Given the description of an element on the screen output the (x, y) to click on. 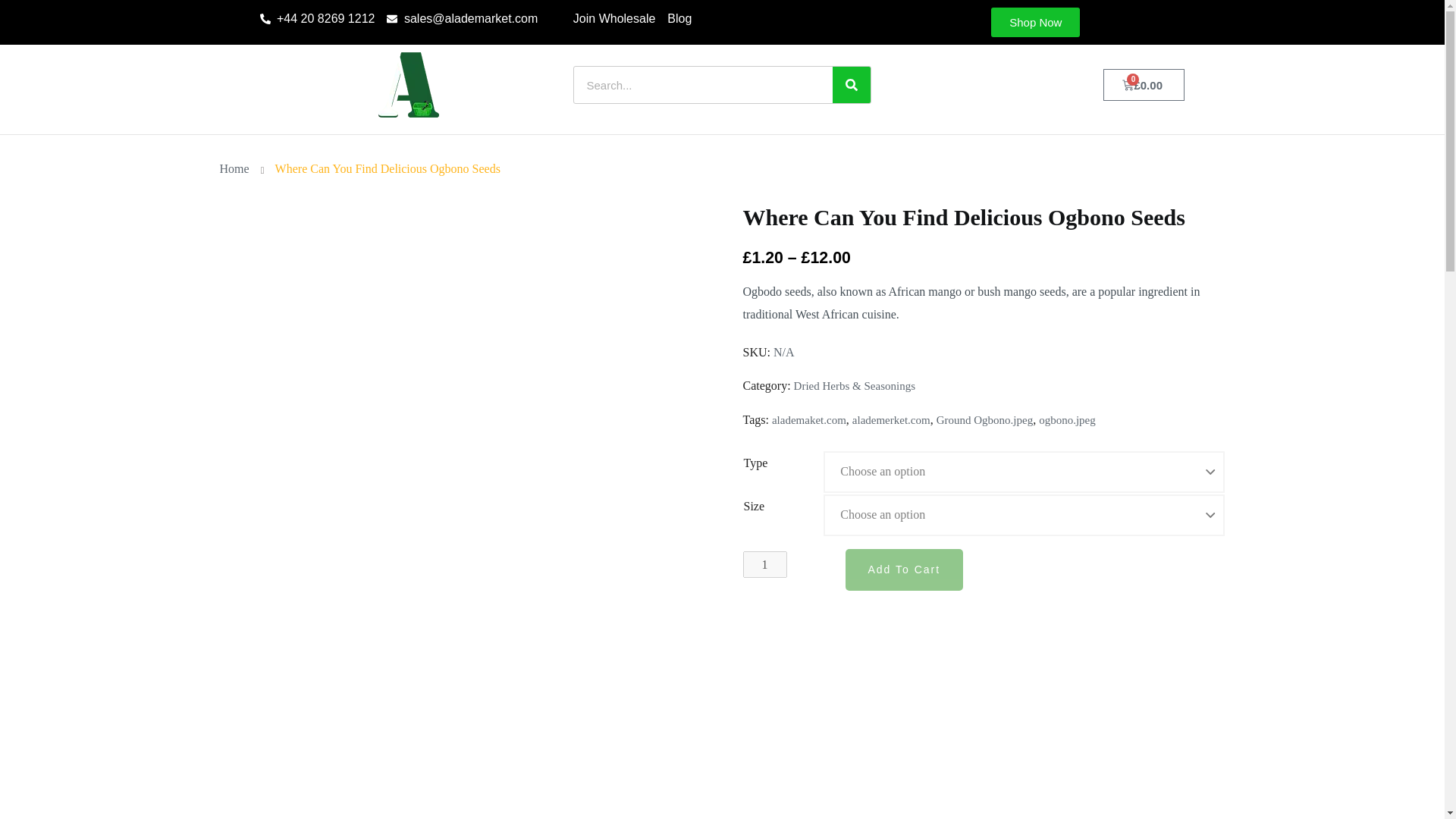
Blog (678, 18)
ogbono.jpeg (1067, 419)
Home   (237, 168)
Shop Now (1035, 21)
1 (764, 564)
Qty (764, 564)
alademaket.com (808, 419)
Add To Cart (903, 569)
Join Wholesale (614, 18)
Ground Ogbono.jpeg (984, 419)
